Given the description of an element on the screen output the (x, y) to click on. 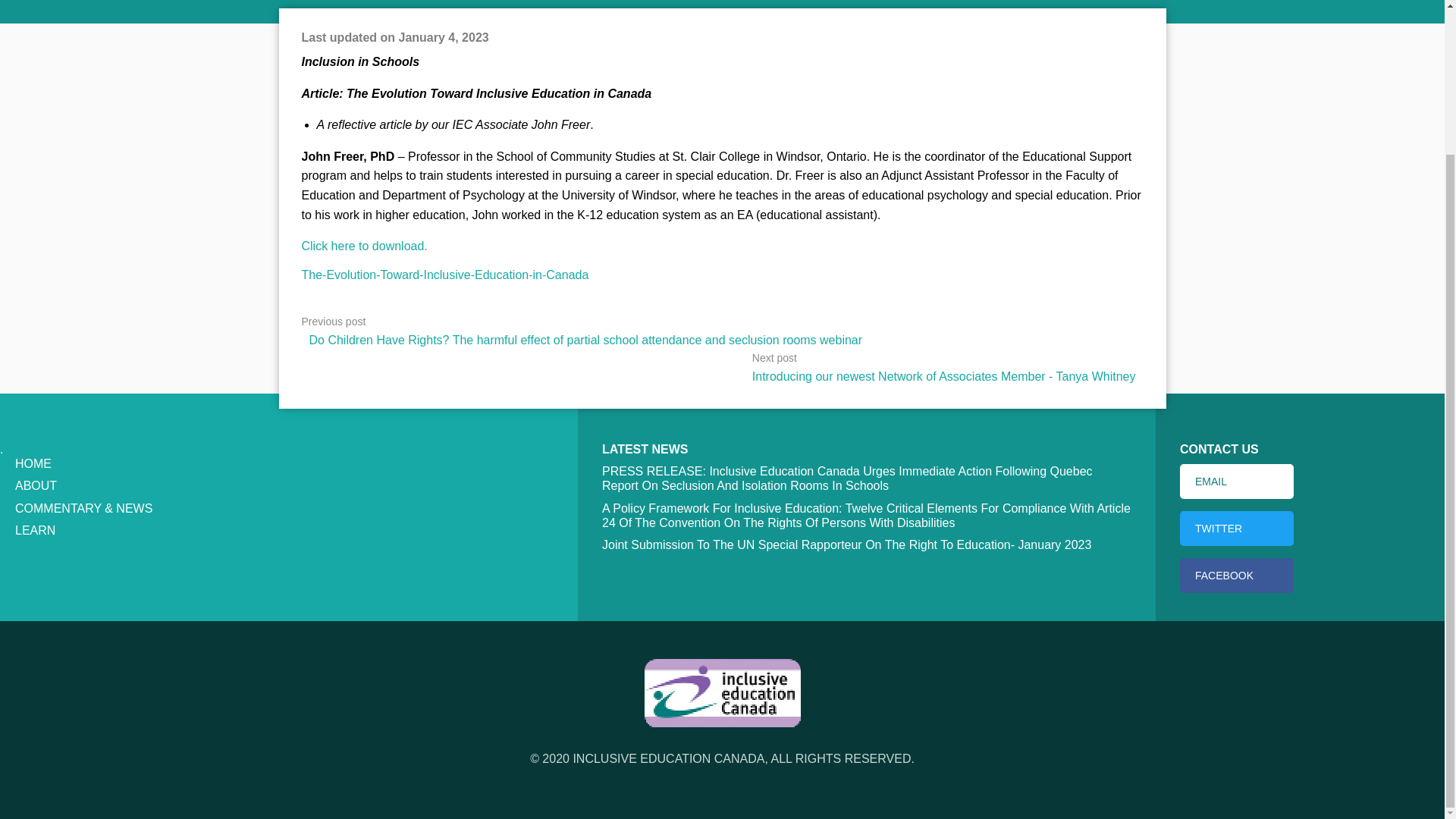
HOME (32, 463)
TWITTER (1236, 528)
ABOUT (35, 485)
FACEBOOK (1236, 574)
Click here to download. (364, 245)
EMAIL (1236, 481)
